Given the description of an element on the screen output the (x, y) to click on. 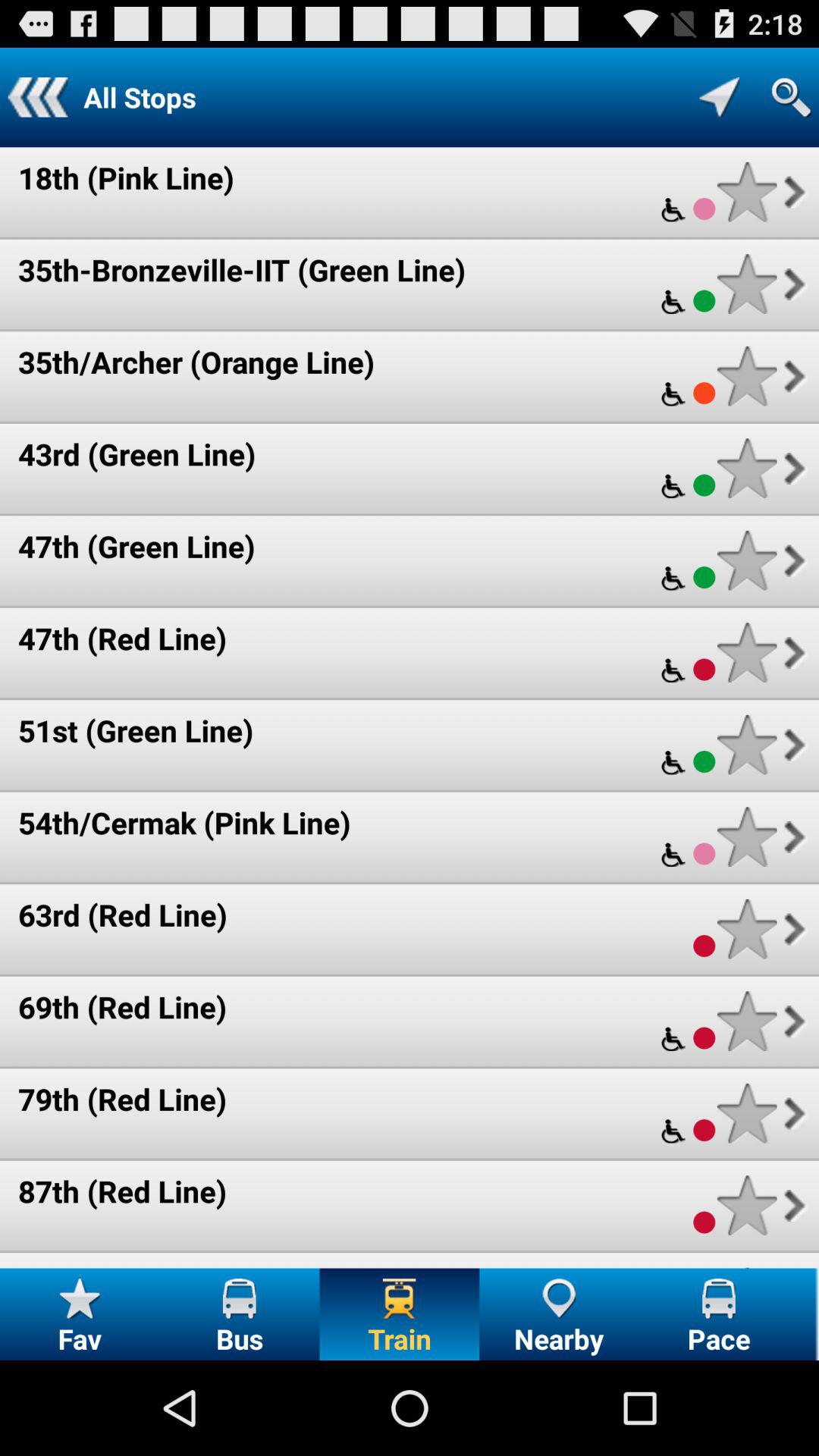
swipe until the 51st (green line) app (135, 730)
